Given the description of an element on the screen output the (x, y) to click on. 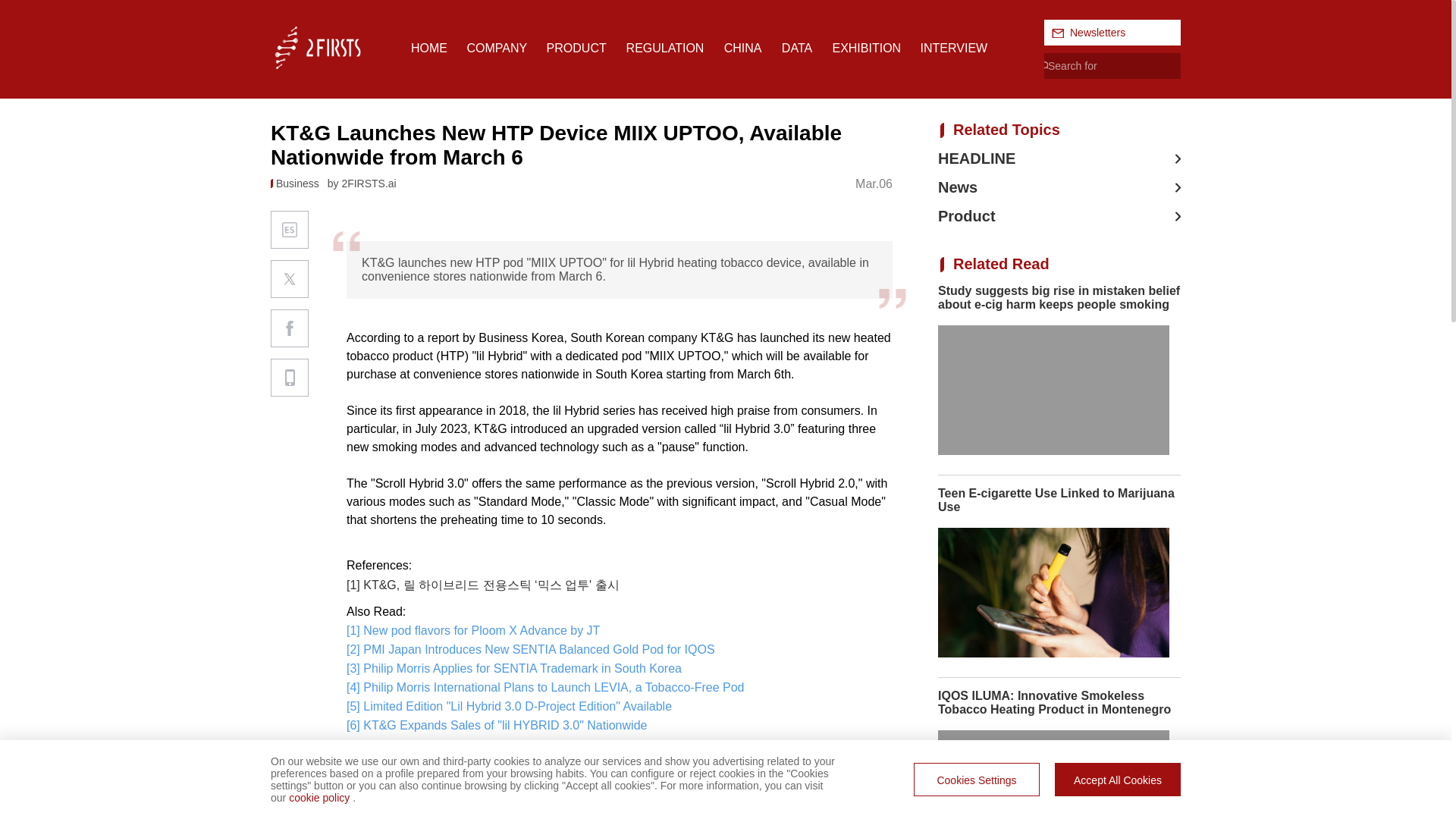
REGULATION (665, 48)
COMPANY (496, 48)
CHINA (742, 48)
PRODUCT (577, 48)
HOME (428, 48)
EXHIBITION (866, 48)
INTERVIEW (954, 48)
